Given the description of an element on the screen output the (x, y) to click on. 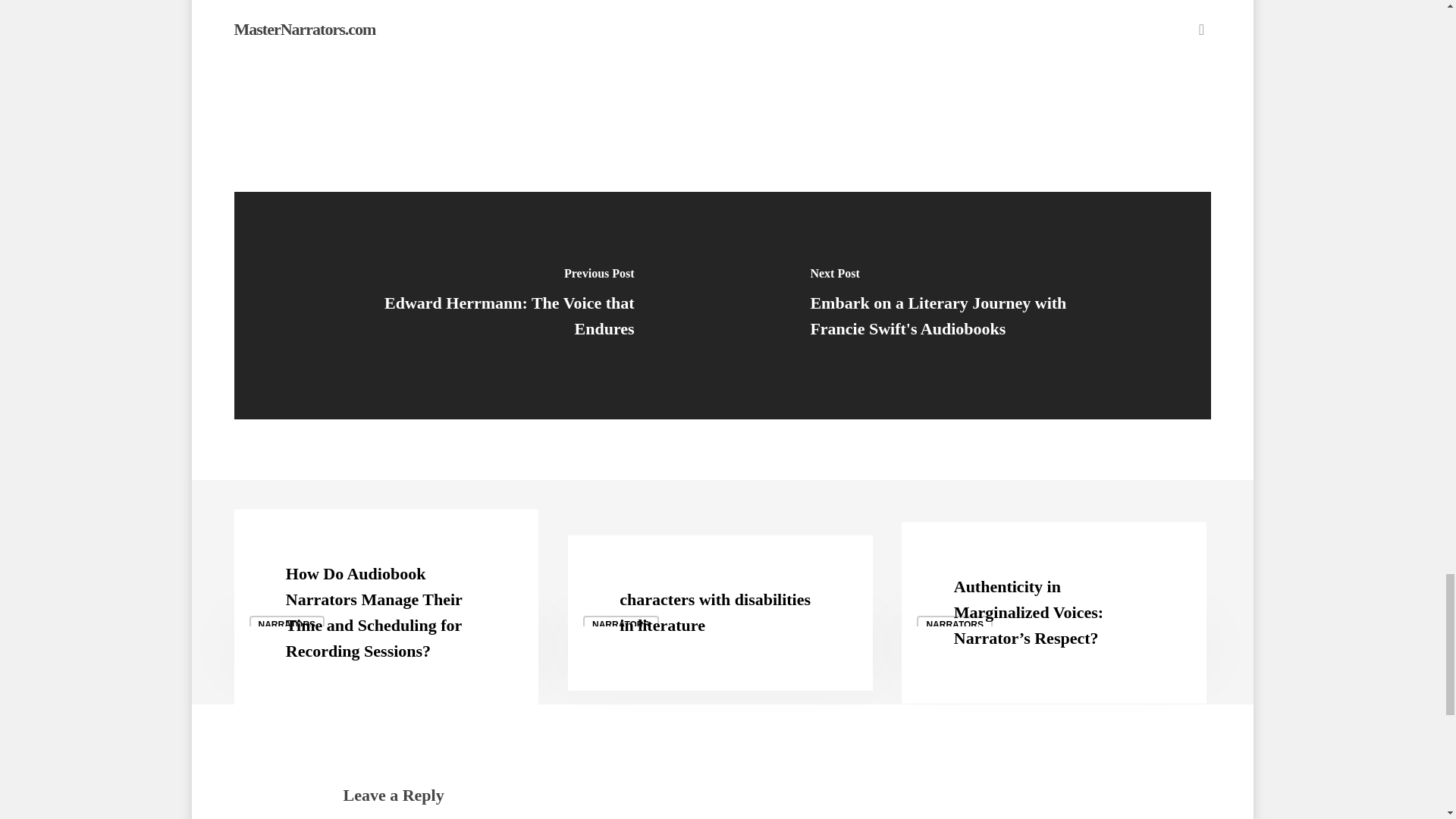
NARRATORS (621, 624)
NARRATORS (954, 624)
NARRATORS (286, 624)
